Given the description of an element on the screen output the (x, y) to click on. 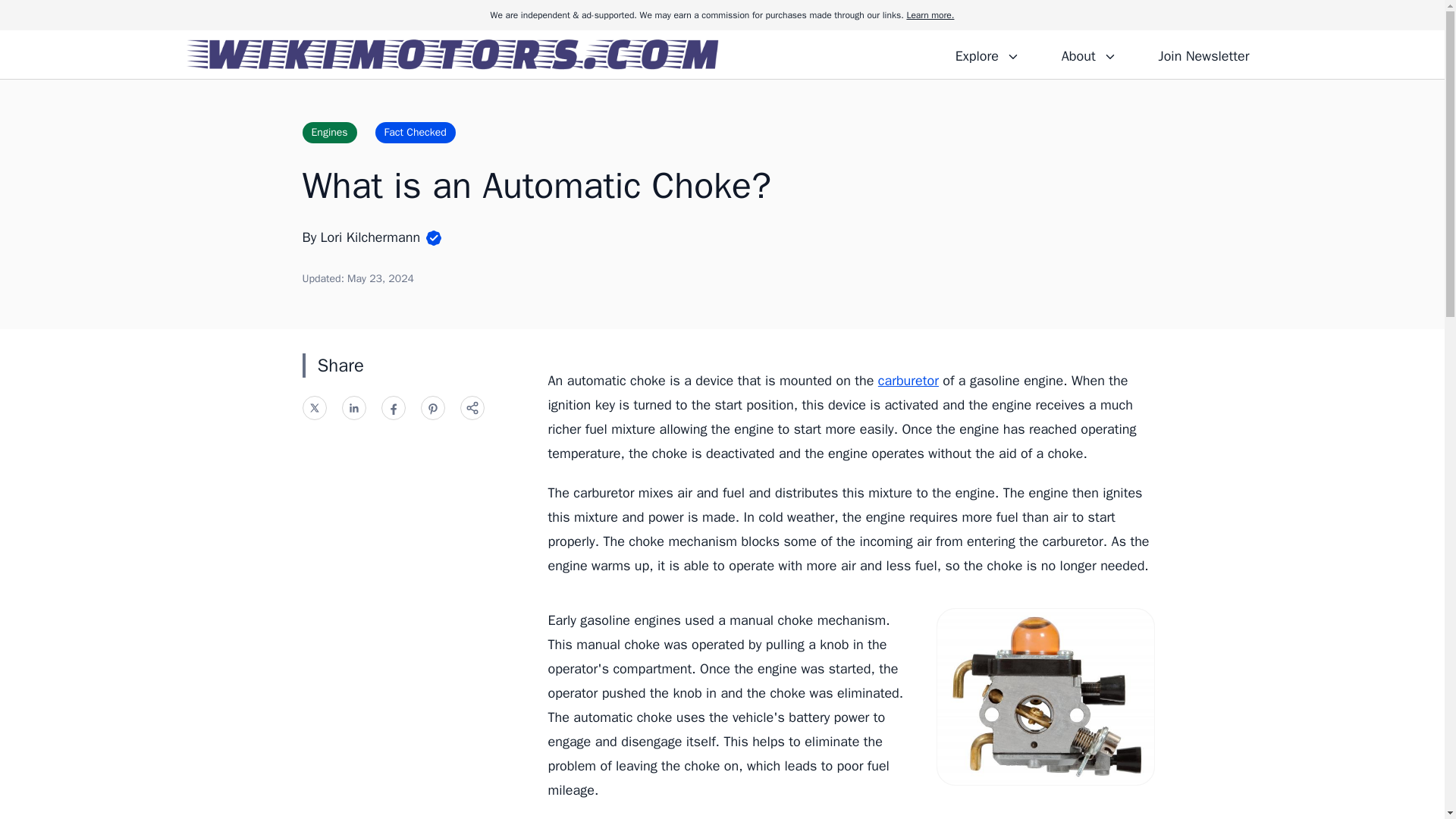
Engines (328, 132)
About (1088, 54)
carburetor (908, 380)
Join Newsletter (1202, 54)
Fact Checked (415, 132)
Learn more. (929, 15)
Explore (986, 54)
